Given the description of an element on the screen output the (x, y) to click on. 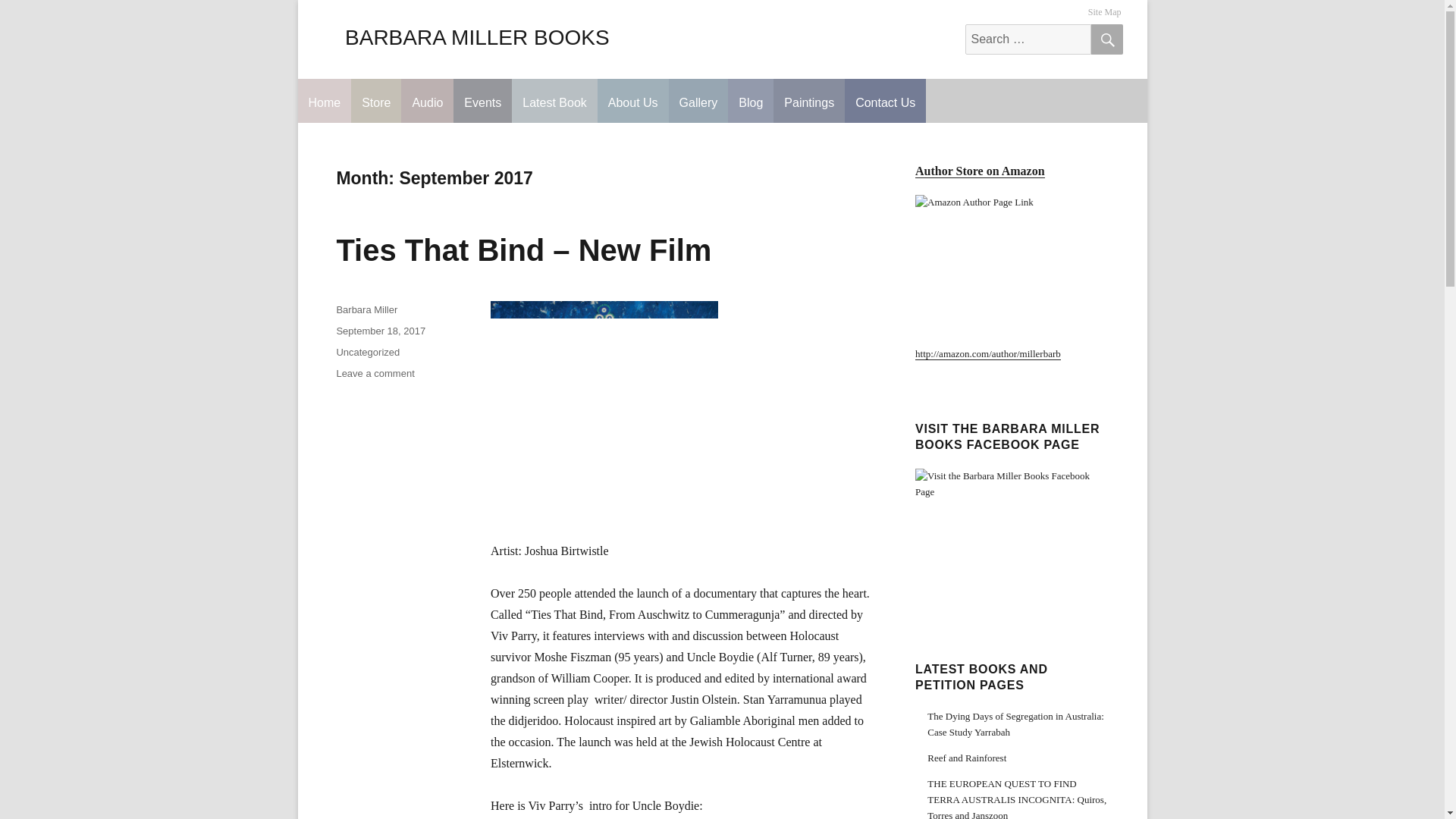
Home (323, 100)
BARBARA MILLER BOOKS (477, 37)
Site Map (1105, 12)
Gallery (698, 100)
Author Store on Amazon (980, 170)
September 18, 2017 (380, 330)
Contact Us (885, 100)
SEARCH (1106, 39)
Uncategorized (367, 351)
